Given the description of an element on the screen output the (x, y) to click on. 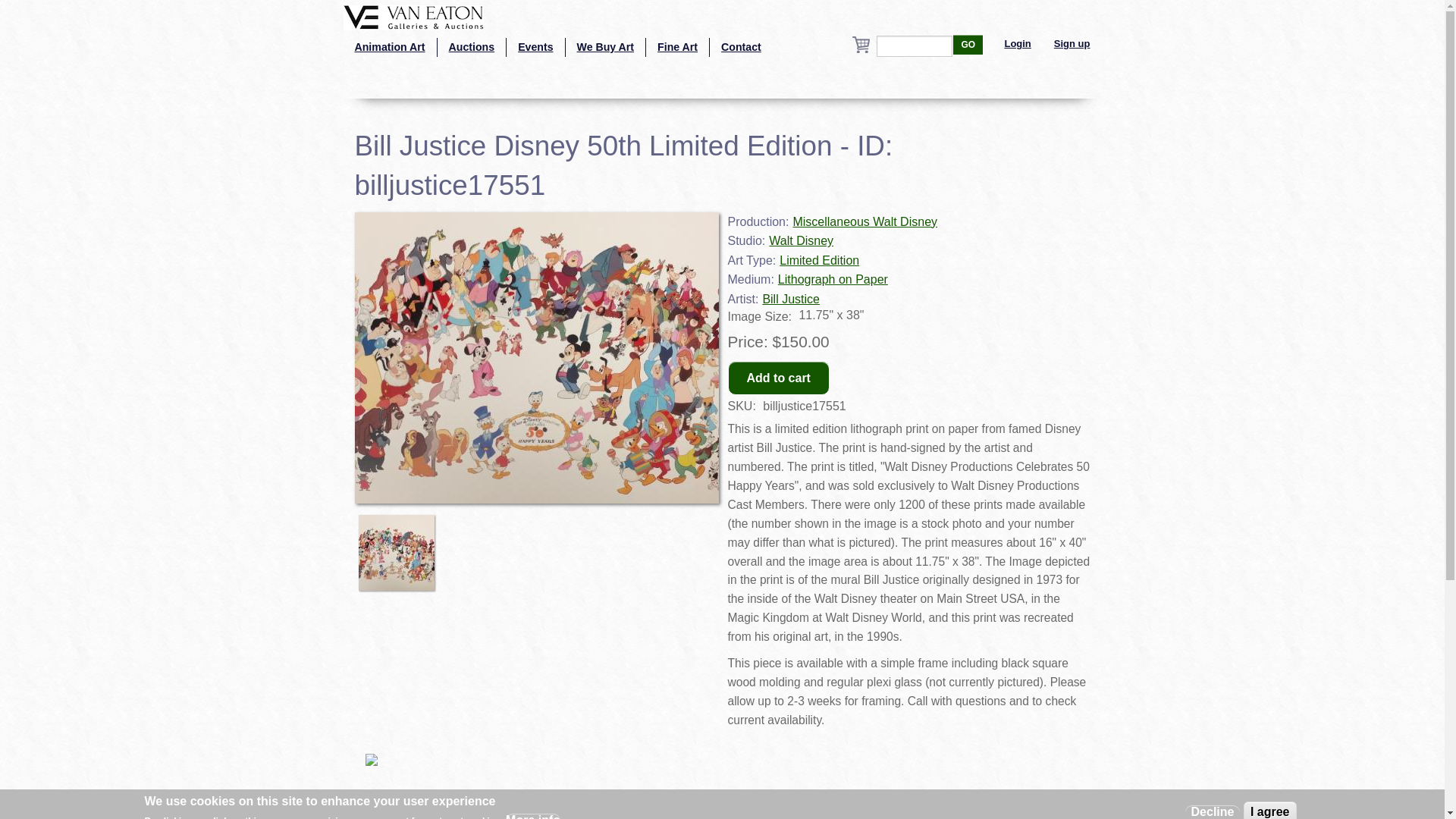
Walt Disney (800, 240)
Sign up (1072, 43)
Lithograph on Paper (832, 278)
Auctions (472, 46)
Animation Art (388, 46)
Miscellaneous Walt Disney (864, 221)
Login (1017, 43)
Bill Justice (790, 298)
